Given the description of an element on the screen output the (x, y) to click on. 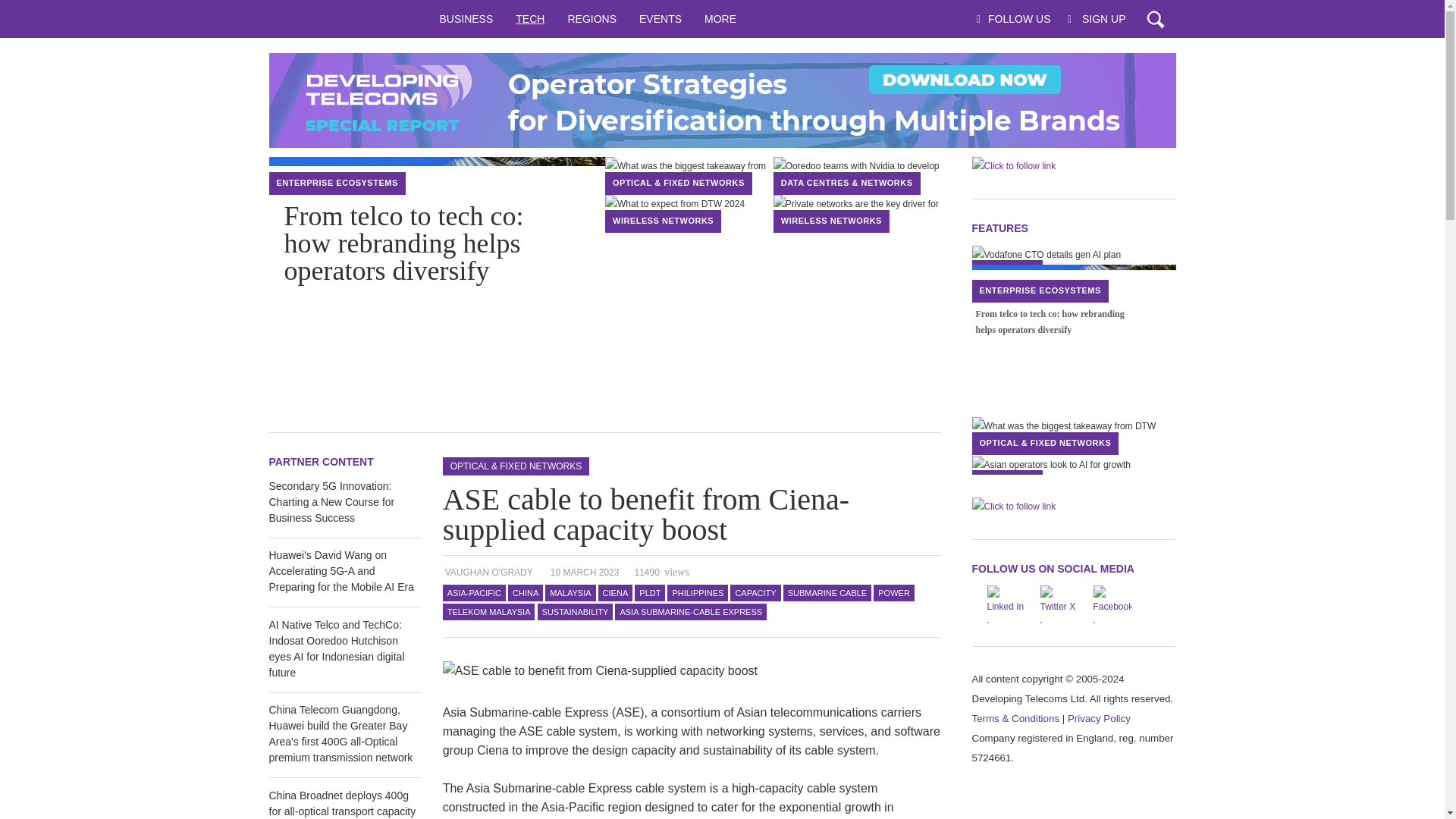
TECH (529, 18)
Enterprise Ecosystems (336, 182)
BUSINESS (465, 18)
Developing Telecoms (347, 18)
REGIONS (591, 18)
Click to follow link (720, 100)
